Given the description of an element on the screen output the (x, y) to click on. 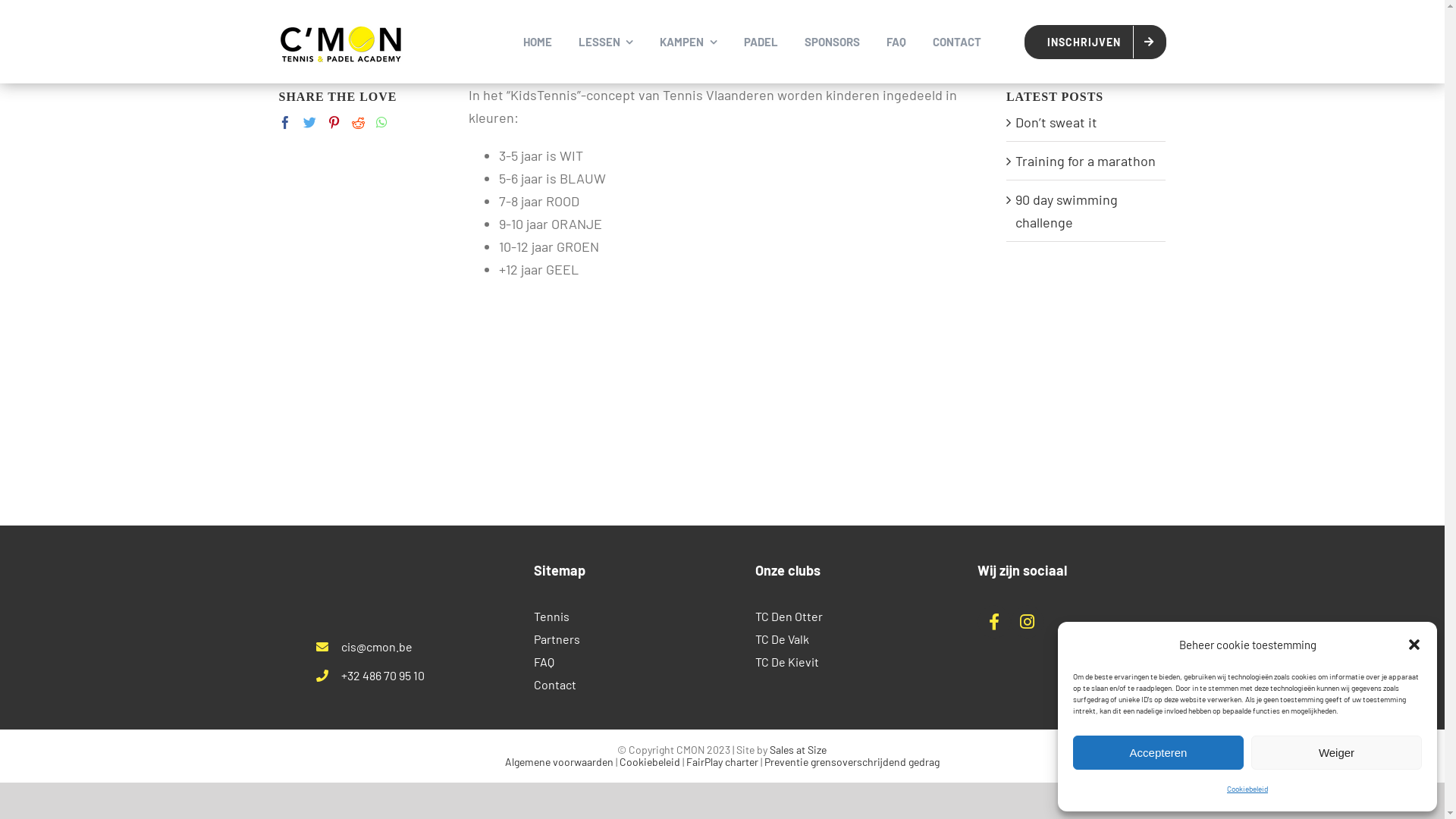
SPONSORS Element type: text (831, 41)
90 day swimming challenge Element type: text (1066, 210)
Algemene voorwaarden Element type: text (559, 761)
KAMPEN Element type: text (688, 41)
Accepteren Element type: text (1158, 752)
Cookiebeleid Element type: text (649, 761)
CONTACT Element type: text (956, 41)
TC Den Otter Element type: text (832, 616)
FairPlay charter Element type: text (722, 761)
Whatsapp Element type: hover (381, 122)
cis@cmon.be Element type: text (376, 646)
+32 486 70 95 10 Element type: text (382, 675)
Facebook Element type: hover (285, 122)
Reddit Element type: hover (357, 122)
Twitter Element type: hover (309, 122)
FAQ Element type: text (895, 41)
INSCHRIJVEN Element type: text (1095, 41)
Weiger Element type: text (1336, 752)
Preventie grensoverschrijdend gedrag Element type: text (851, 761)
Contact Element type: text (611, 684)
Partners Element type: text (611, 638)
FAQ Element type: text (611, 661)
LESSEN Element type: text (605, 41)
Pinterest Element type: hover (333, 122)
Sales at Size Element type: text (797, 749)
TC De Valk Element type: text (832, 638)
logo-wit Element type: hover (387, 585)
Tennis Element type: text (611, 616)
Training for a marathon Element type: text (1085, 160)
PADEL Element type: text (760, 41)
TC De Kievit Element type: text (832, 661)
Cookiebeleid Element type: text (1246, 788)
HOME Element type: text (537, 41)
